Given the description of an element on the screen output the (x, y) to click on. 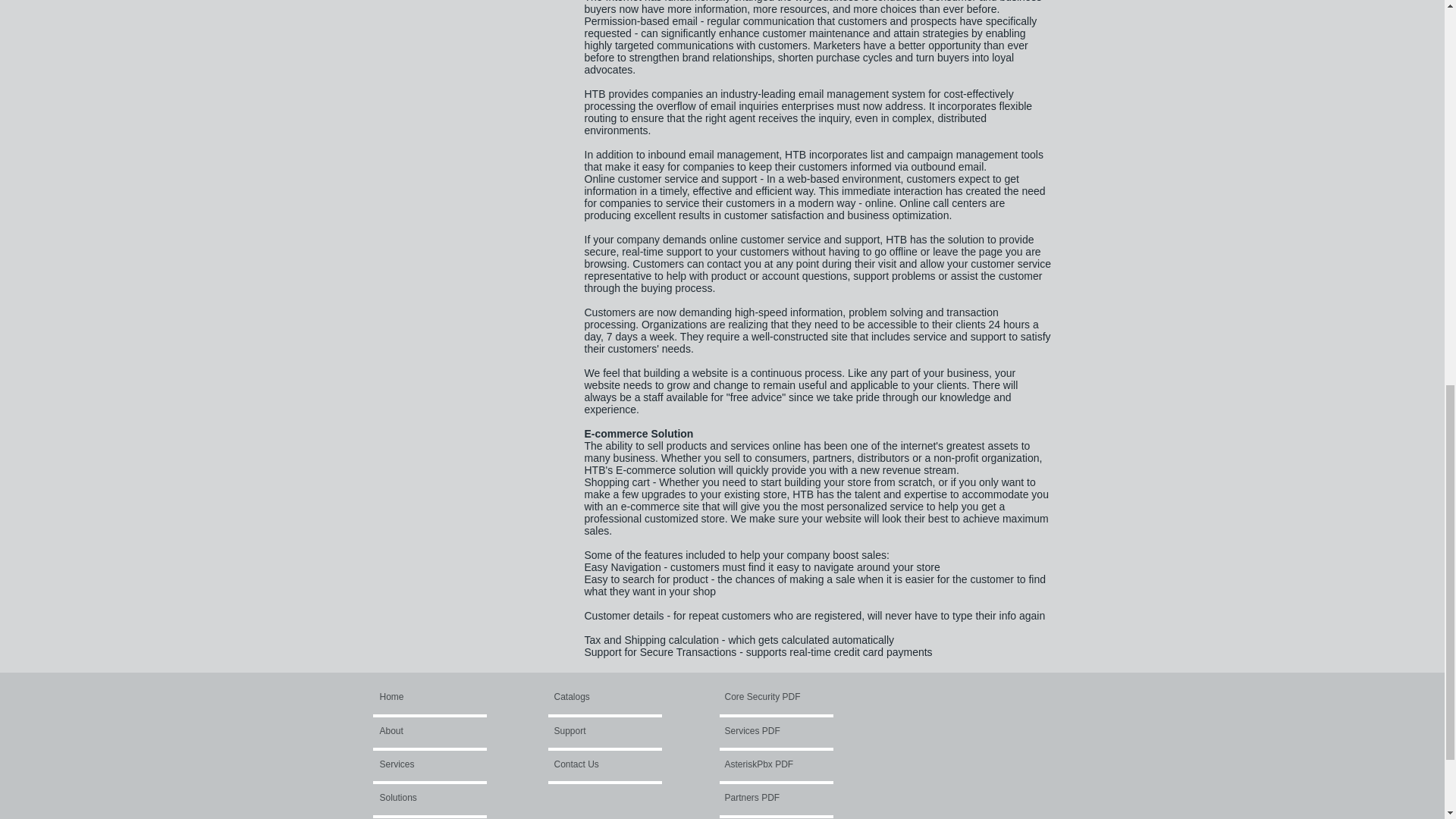
Core Security PDF (762, 697)
Support (596, 731)
Services PDF (770, 731)
Services (419, 764)
About (421, 731)
AsteriskPbx PDF (765, 764)
Home (436, 697)
Catalogs (589, 697)
Partners PDF (779, 798)
Contact Us (593, 764)
